Given the description of an element on the screen output the (x, y) to click on. 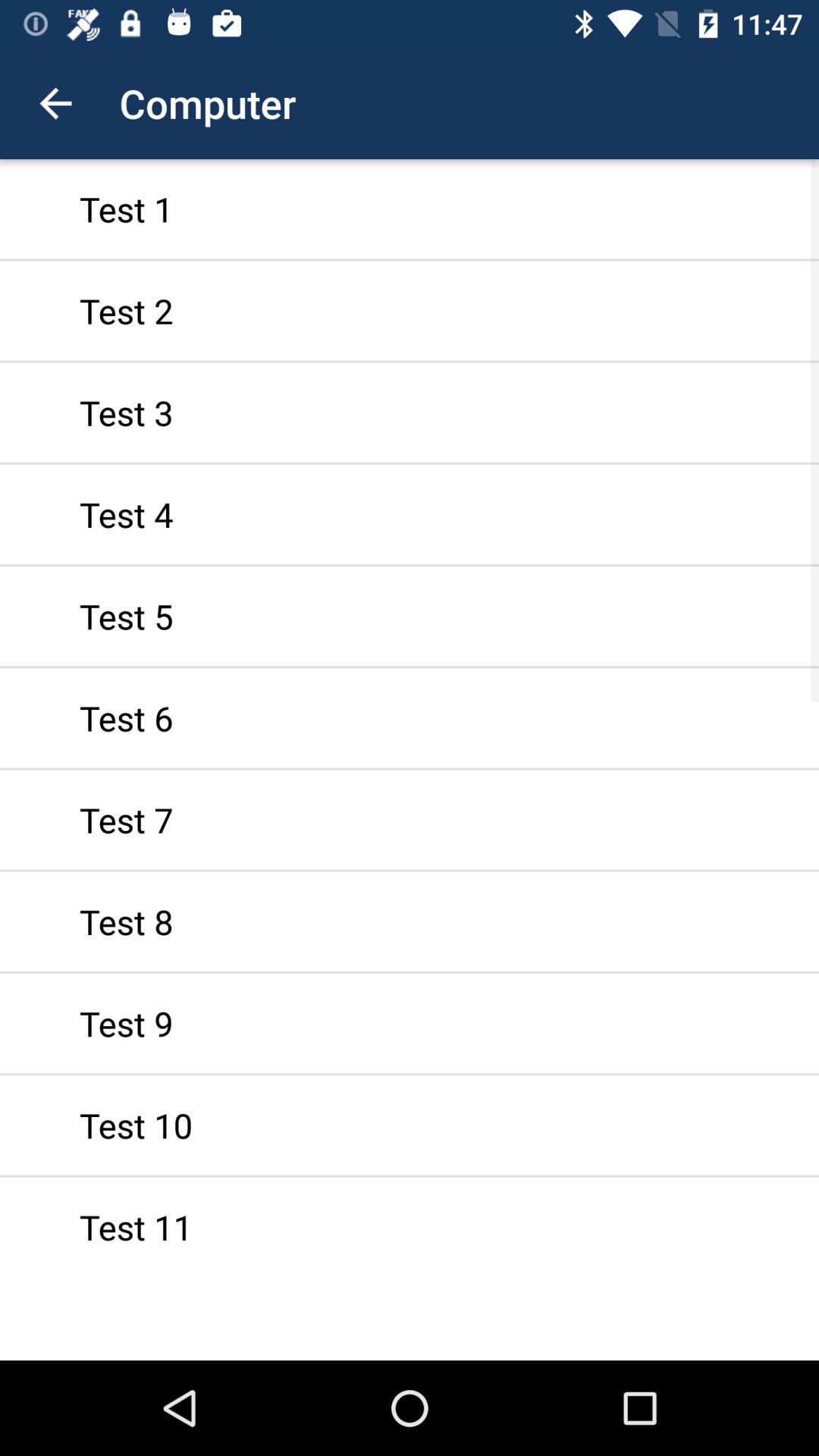
turn off icon above test 8 (409, 819)
